Given the description of an element on the screen output the (x, y) to click on. 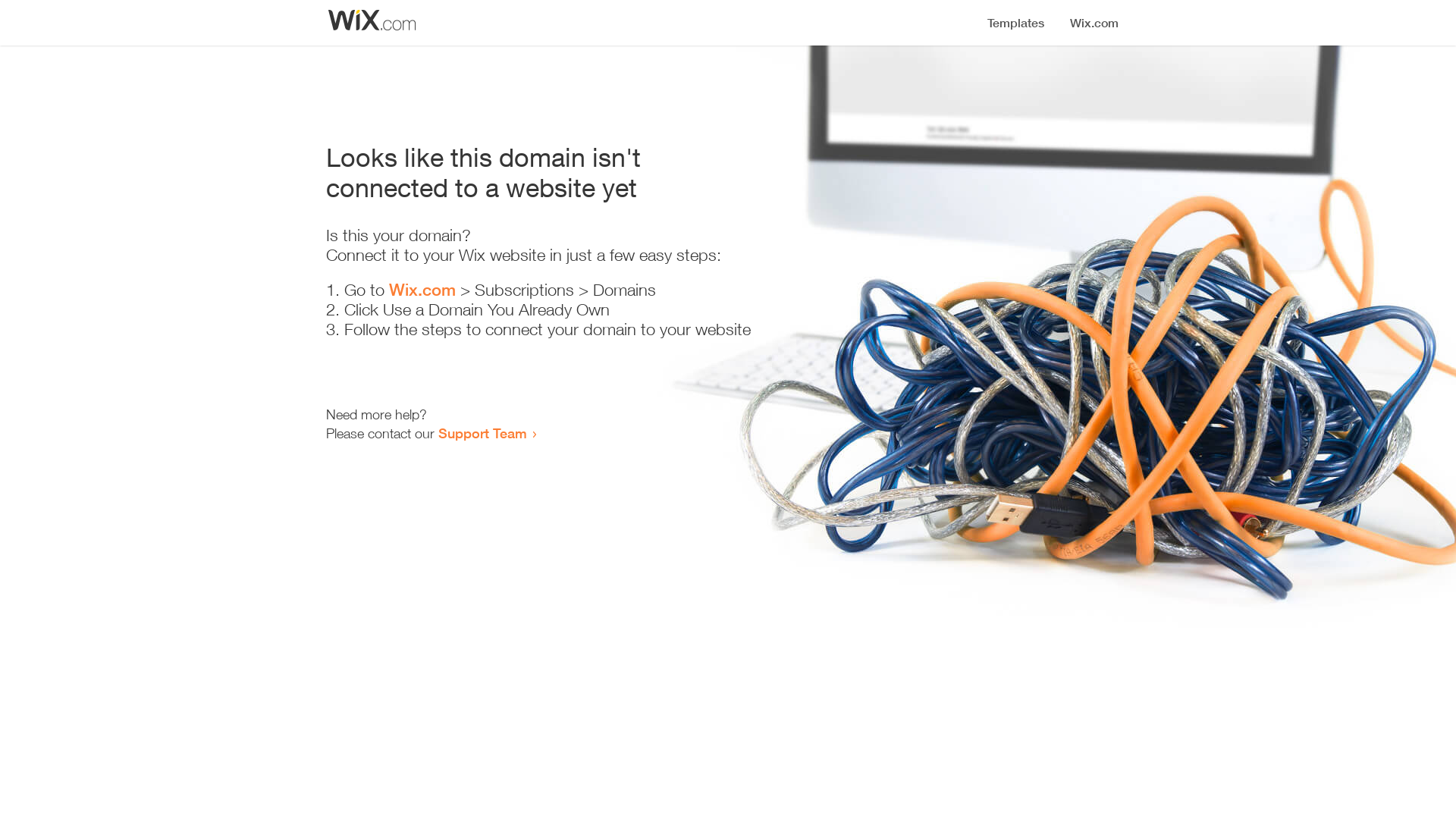
Wix.com Element type: text (422, 289)
Support Team Element type: text (482, 432)
